Given the description of an element on the screen output the (x, y) to click on. 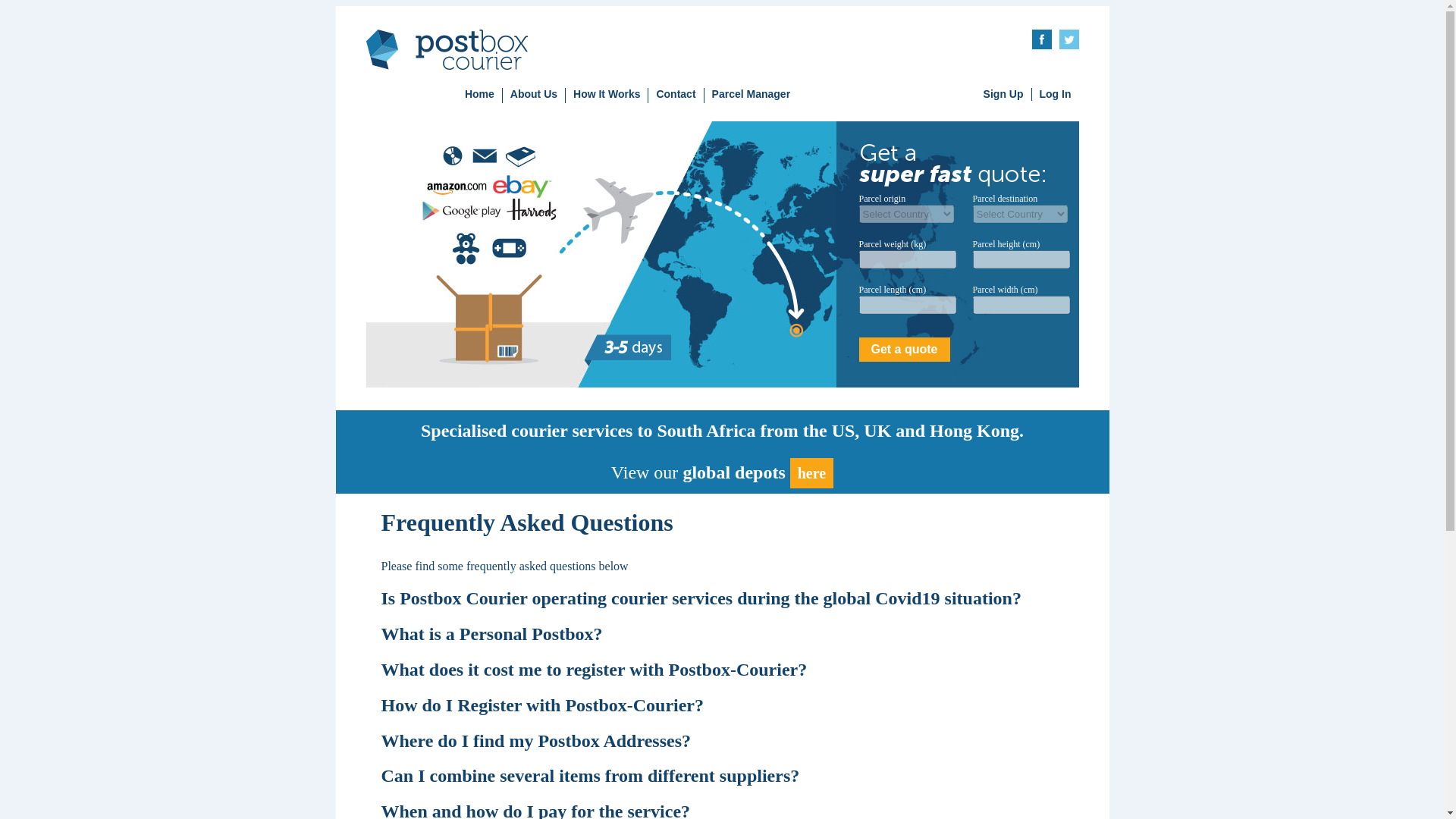
Log In (1054, 93)
How It Works (606, 95)
Parcel Manager (750, 95)
Home (479, 95)
Sign Up (1003, 93)
Get a quote (903, 349)
Contact (675, 95)
here (811, 472)
About Us (534, 95)
